Given the description of an element on the screen output the (x, y) to click on. 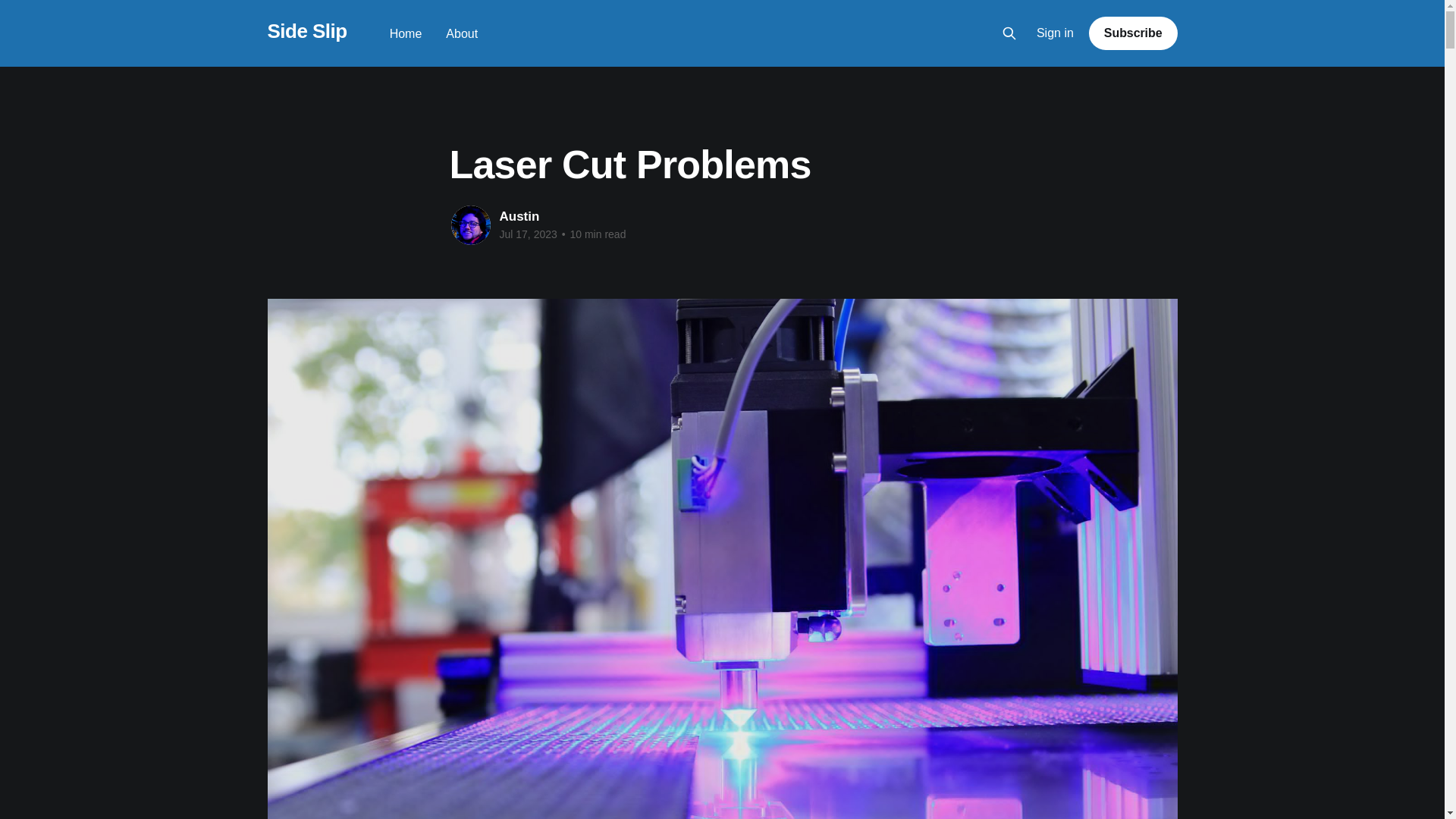
About (461, 33)
Subscribe (1133, 32)
Sign in (1055, 33)
Home (406, 33)
Side Slip (306, 31)
Austin (518, 216)
